Given the description of an element on the screen output the (x, y) to click on. 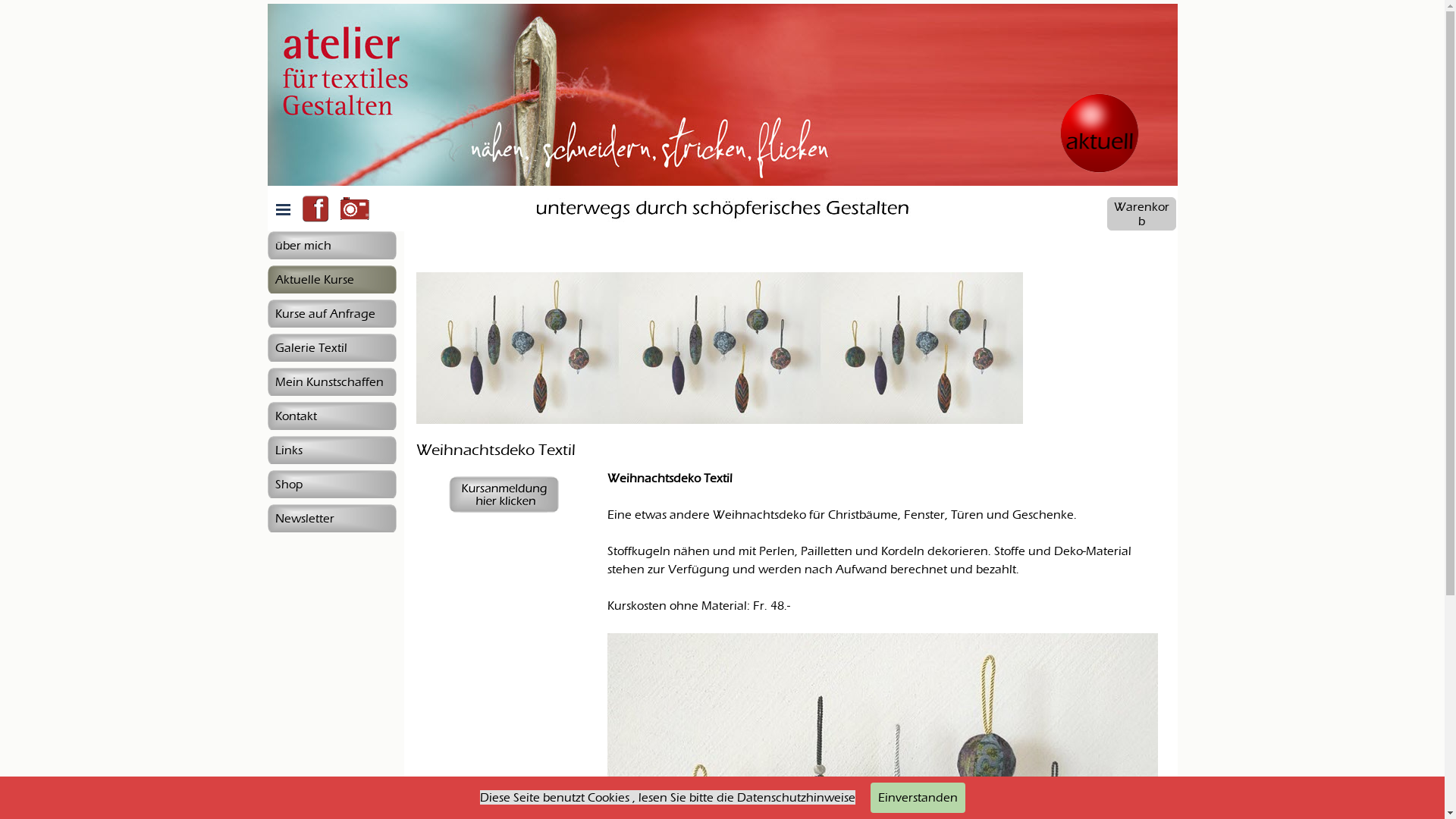
Kontakt Element type: text (331, 415)
Warenkorb Element type: text (1141, 213)
Links Element type: text (331, 450)
Newsletter Element type: text (331, 518)
Mein Kunstschaffen Element type: text (331, 381)
